Given the description of an element on the screen output the (x, y) to click on. 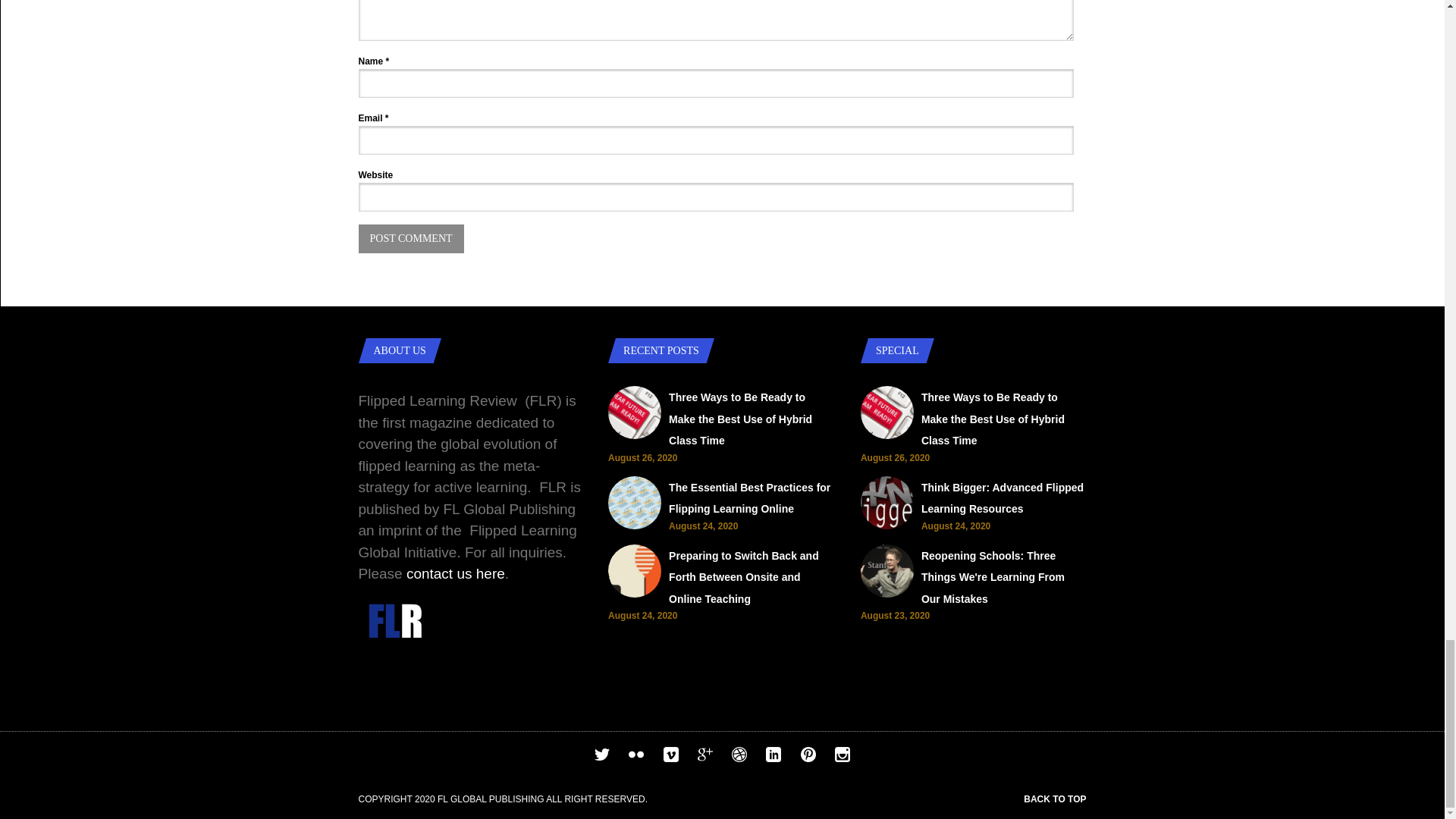
Instagram (842, 756)
Pinterest (807, 756)
Post Comment (410, 238)
Flickr (635, 756)
Vimeo (670, 756)
Linkedin (772, 756)
Dribbble (739, 756)
